Given the description of an element on the screen output the (x, y) to click on. 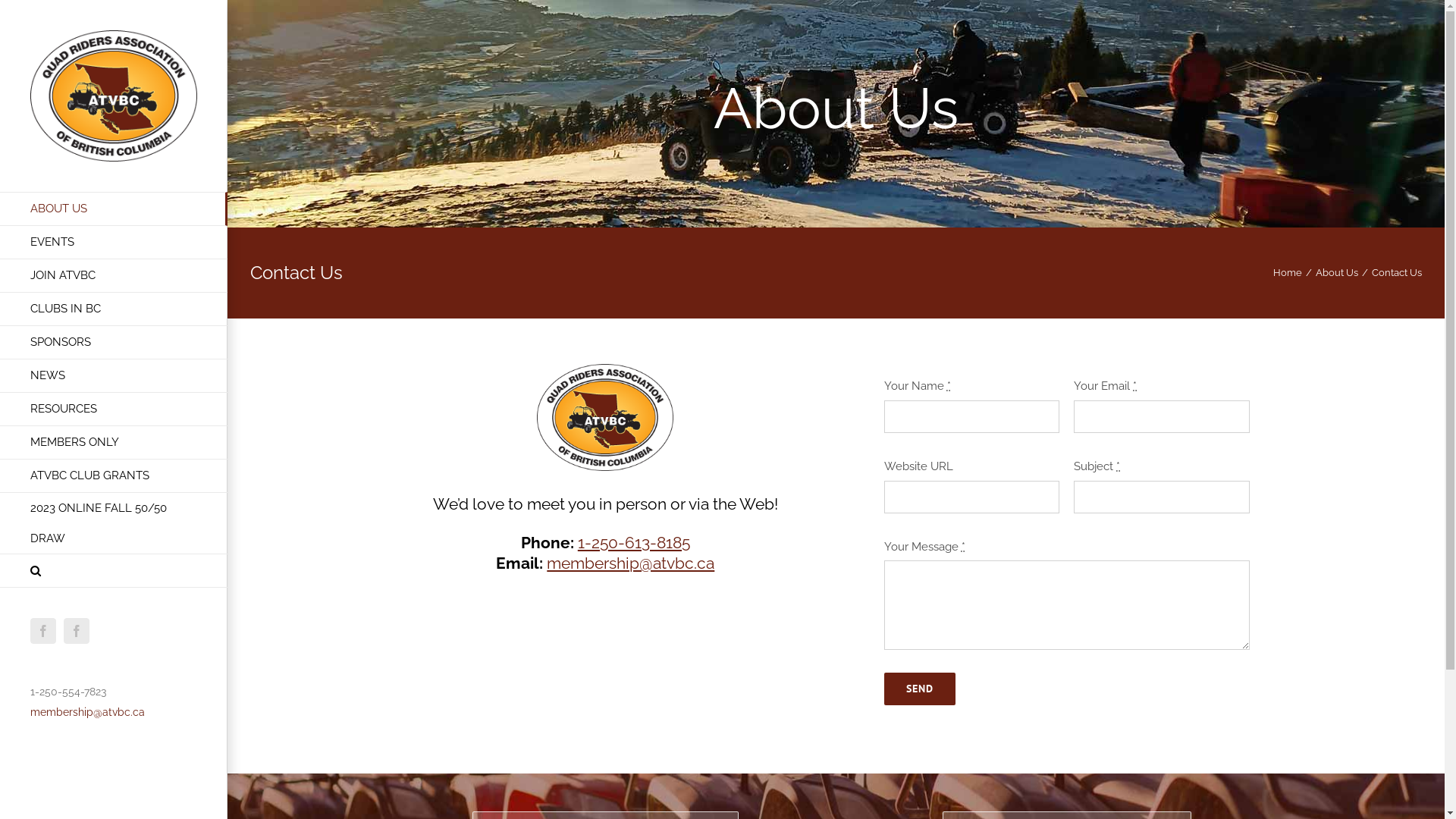
About Us Element type: text (1336, 272)
Facebook Element type: text (76, 630)
1-250-613-8185 Element type: text (633, 542)
SPONSORS Element type: text (113, 342)
Home Element type: text (1287, 272)
MEMBERS ONLY Element type: text (113, 442)
Search Element type: hover (113, 570)
SEND Element type: text (919, 688)
CLUBS IN BC Element type: text (113, 309)
ATVBC CLUB GRANTS Element type: text (113, 475)
ABOUT US Element type: text (113, 208)
EVENTS Element type: text (113, 242)
Facebook Element type: text (43, 630)
JOIN ATVBC Element type: text (113, 275)
membership@atvbc.ca Element type: text (87, 712)
RESOURCES Element type: text (113, 409)
2023 ONLINE FALL 50/50 DRAW Element type: text (113, 523)
NEWS Element type: text (113, 375)
membership@atvbc.ca Element type: text (630, 562)
